Given the description of an element on the screen output the (x, y) to click on. 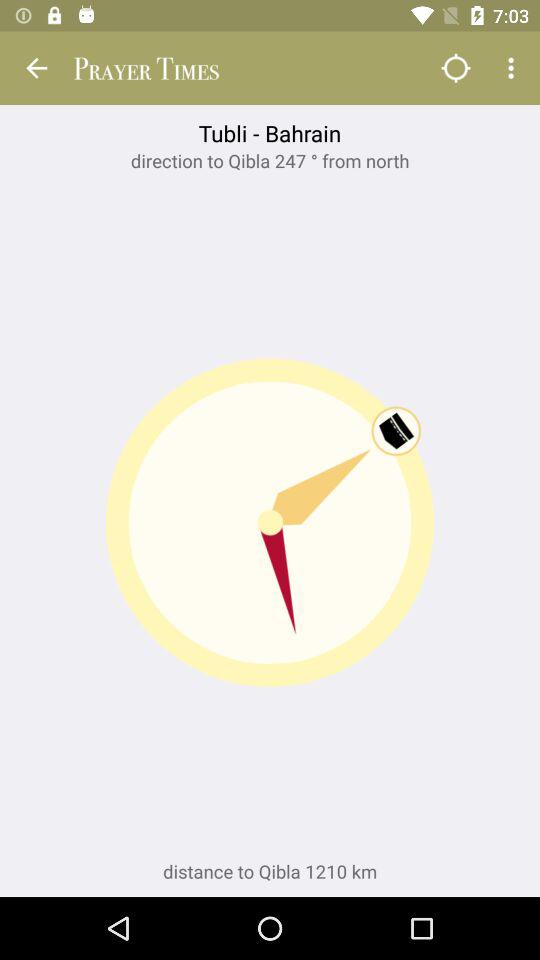
press the app to the right of prayer times item (455, 67)
